Given the description of an element on the screen output the (x, y) to click on. 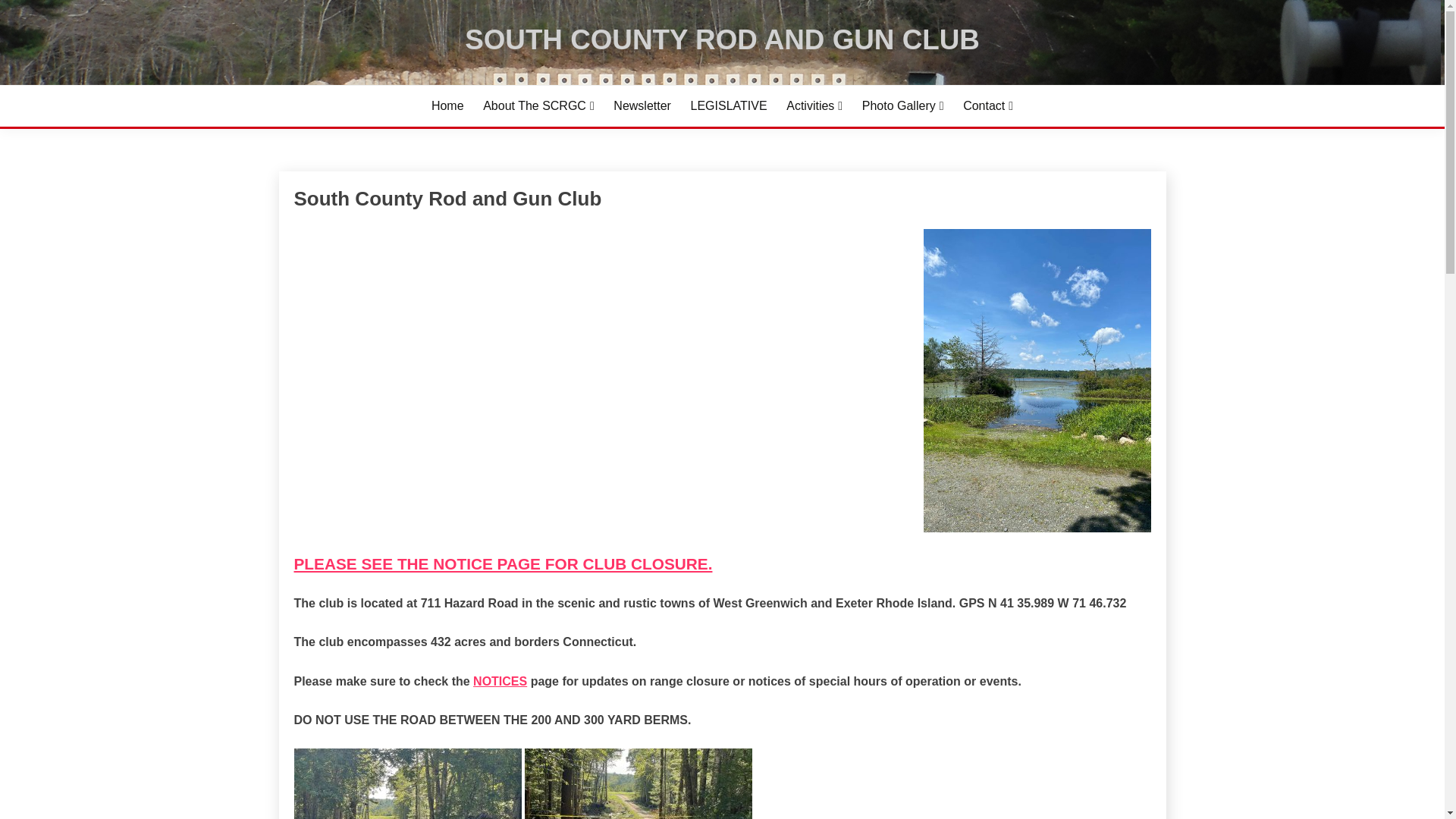
LEGISLATIVE (728, 106)
Photo Gallery (902, 106)
Activities (814, 106)
Newsletter (641, 106)
SOUTH COUNTY ROD AND GUN CLUB (721, 39)
NOTICES (500, 680)
Contact (987, 106)
PLEASE SEE THE NOTICE PAGE FOR CLUB CLOSURE. (503, 563)
Home (447, 106)
About The SCRGC (538, 106)
